Given the description of an element on the screen output the (x, y) to click on. 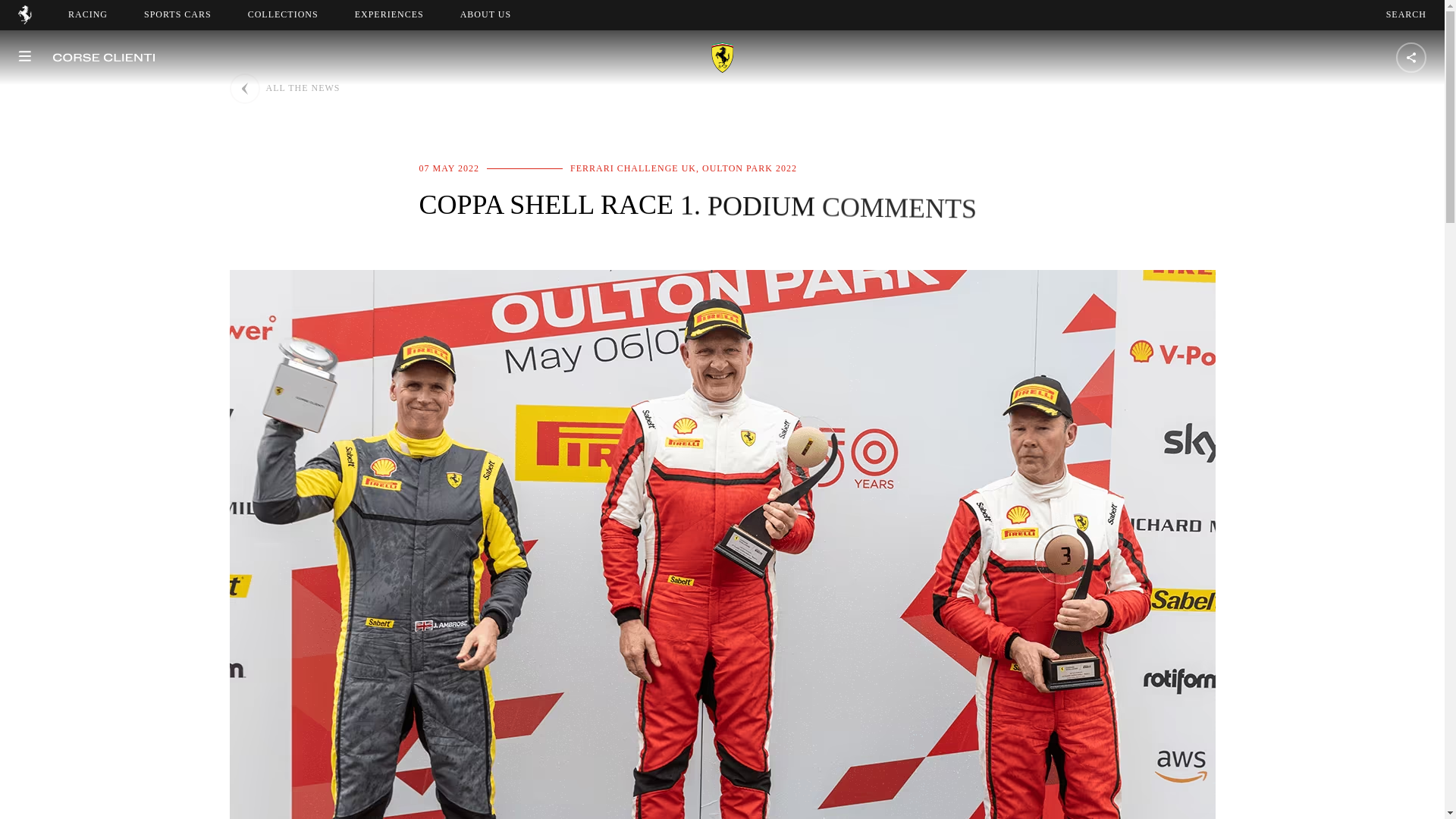
SEARCH (499, 14)
Ferrari logo (1406, 14)
SPORTS CARS (24, 19)
EXPERIENCES (177, 14)
RACING (389, 14)
COLLECTIONS (87, 14)
ABOUT US (282, 14)
Coppa Shell Race 1. Podium Comments (485, 14)
